Given the description of an element on the screen output the (x, y) to click on. 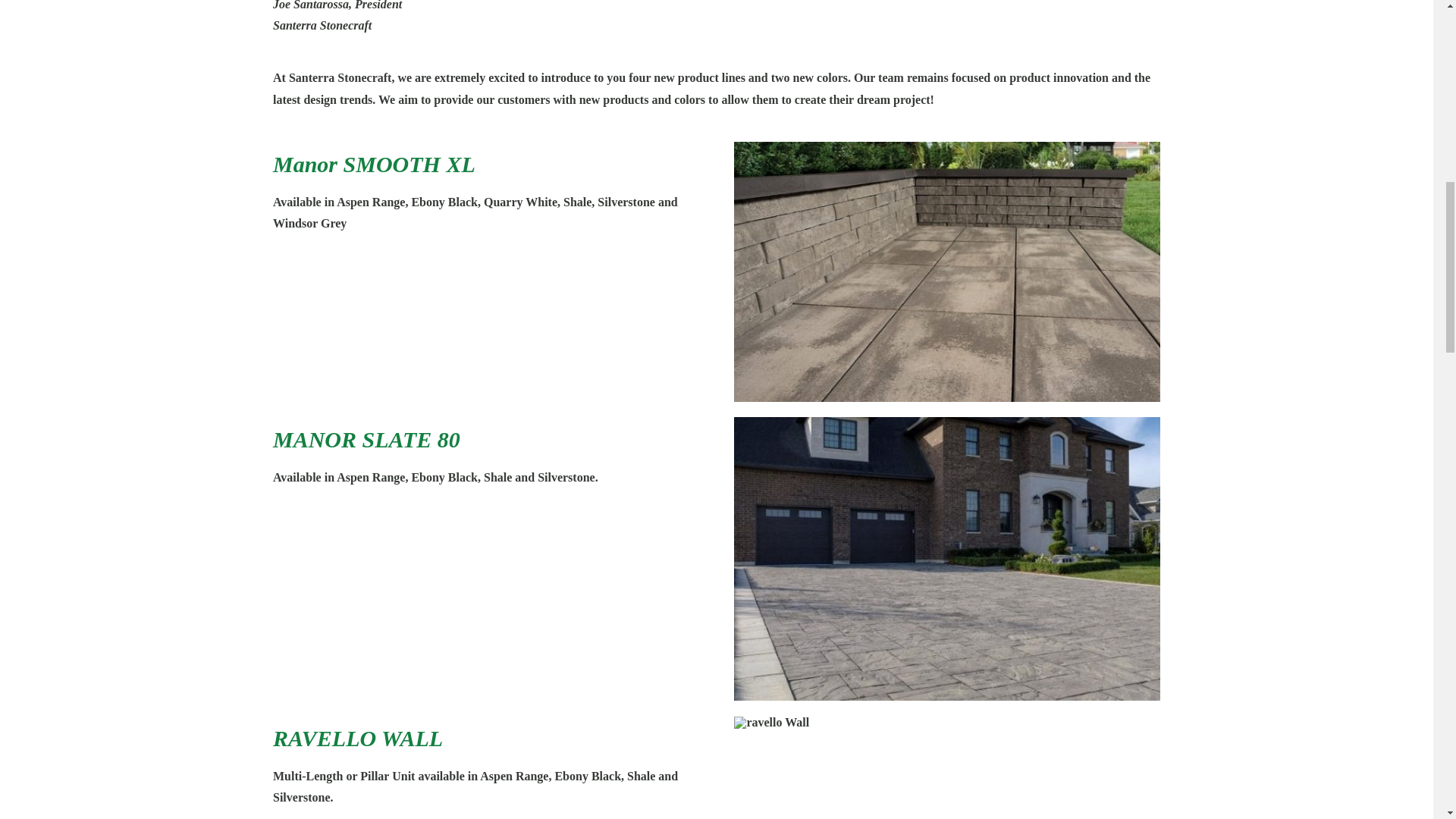
Manor Slate 80 (946, 558)
manor-smoth-xl (946, 271)
ravello Wall (771, 722)
